Given the description of an element on the screen output the (x, y) to click on. 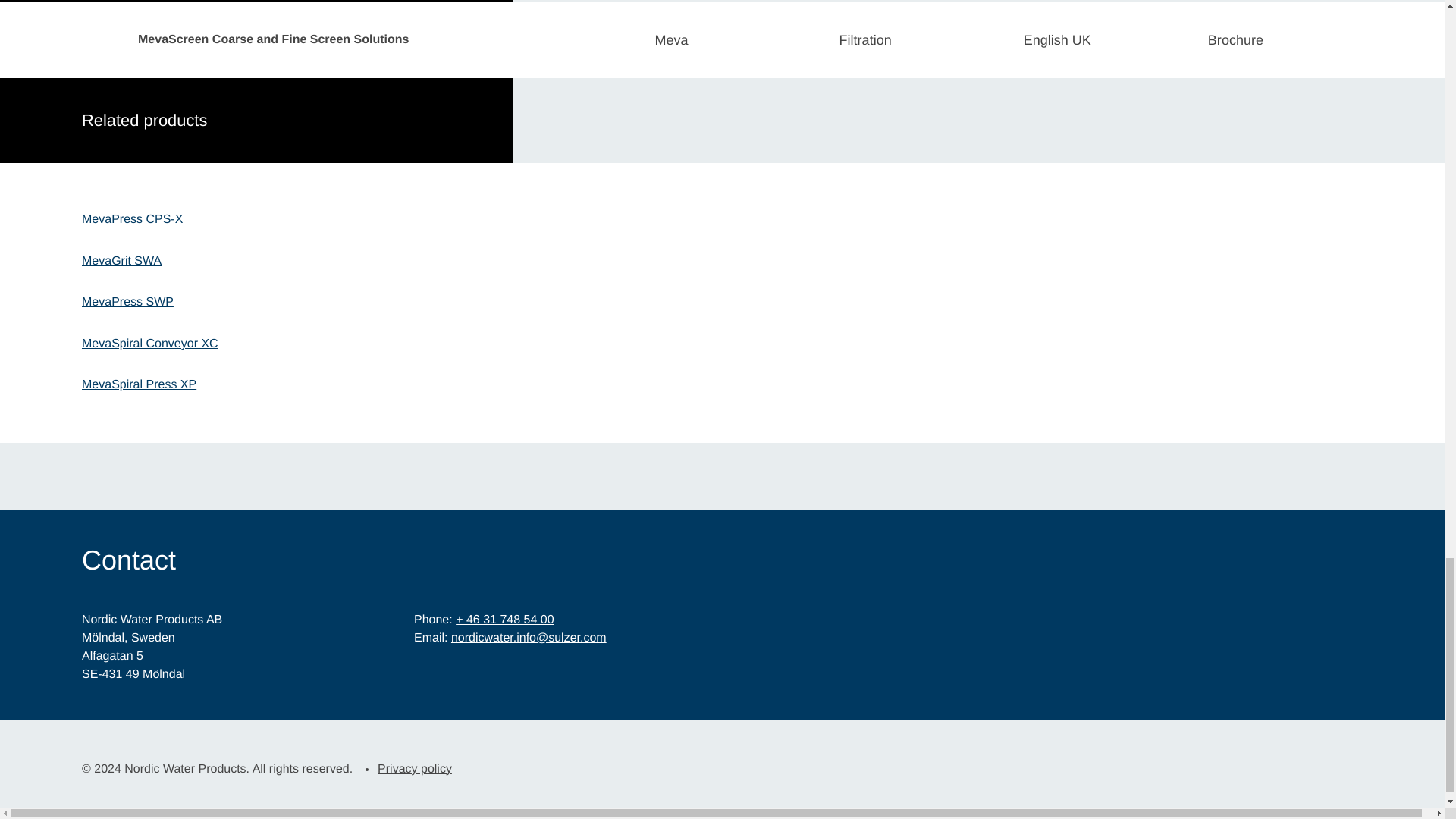
MevaPress SWP (127, 302)
Privacy policy (414, 769)
MevaPress CPS-X (132, 219)
MevaSpiral Conveyor XC (149, 344)
MevaGrit SWA (121, 261)
MevaSpiral Press XP (138, 385)
